Given the description of an element on the screen output the (x, y) to click on. 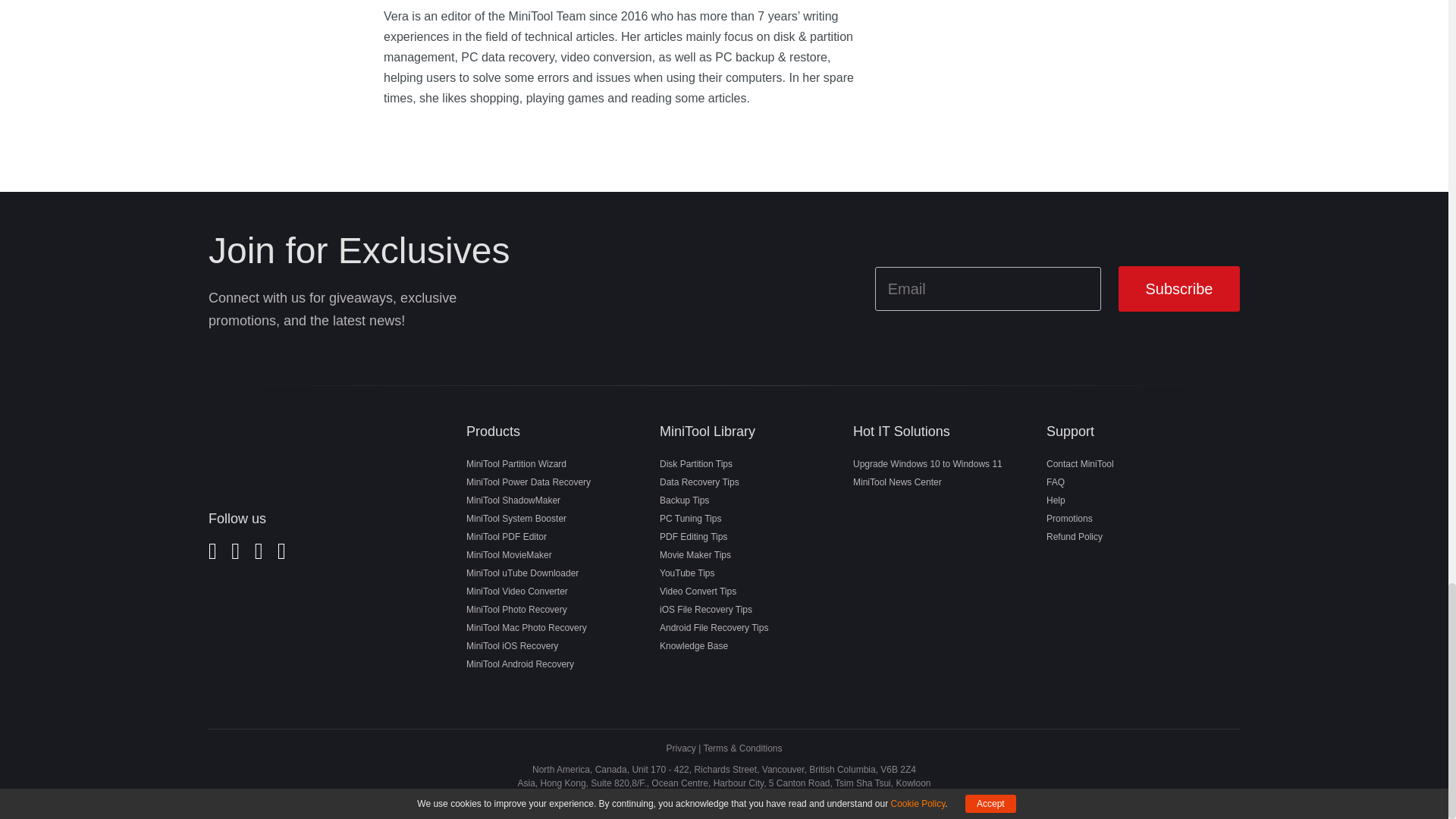
Subscribe (1179, 288)
Linkedin (258, 555)
Customer reviews powered by Trustpilot (299, 634)
FaceBook (212, 555)
Youtube (281, 555)
Twitter (235, 555)
